Given the description of an element on the screen output the (x, y) to click on. 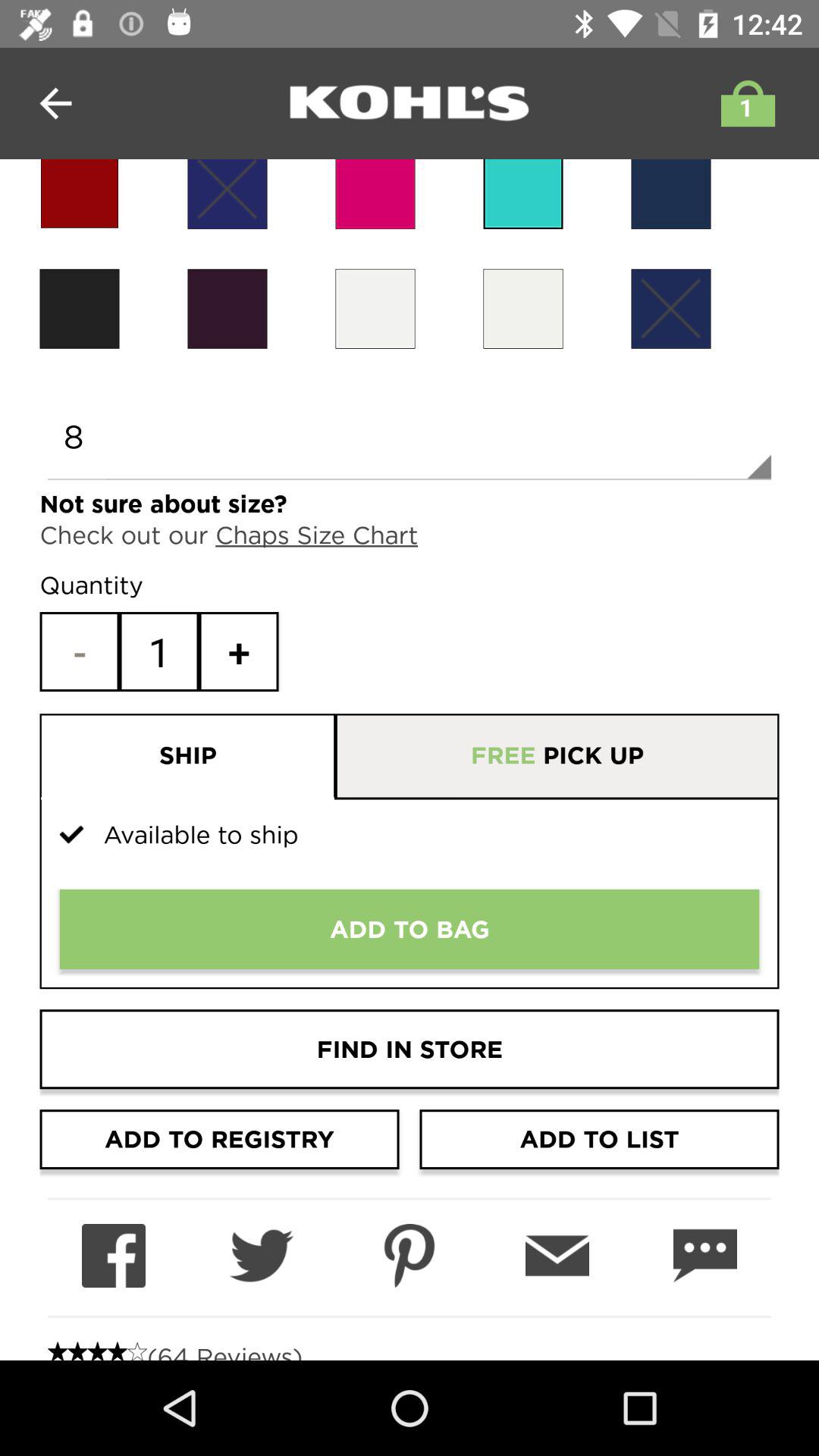
choose color clue (670, 194)
